Given the description of an element on the screen output the (x, y) to click on. 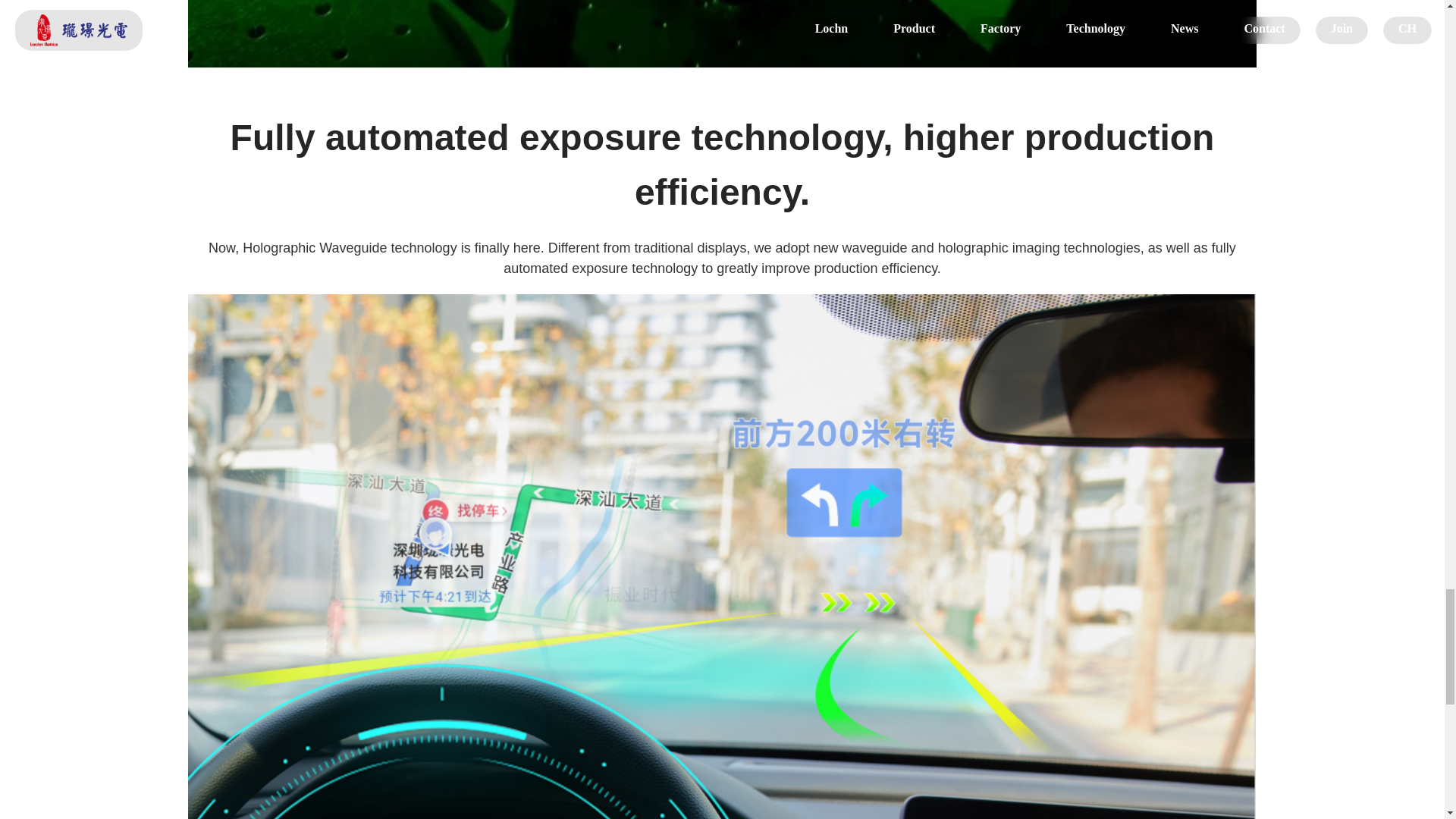
1682505929968676.jpg (722, 33)
